Given the description of an element on the screen output the (x, y) to click on. 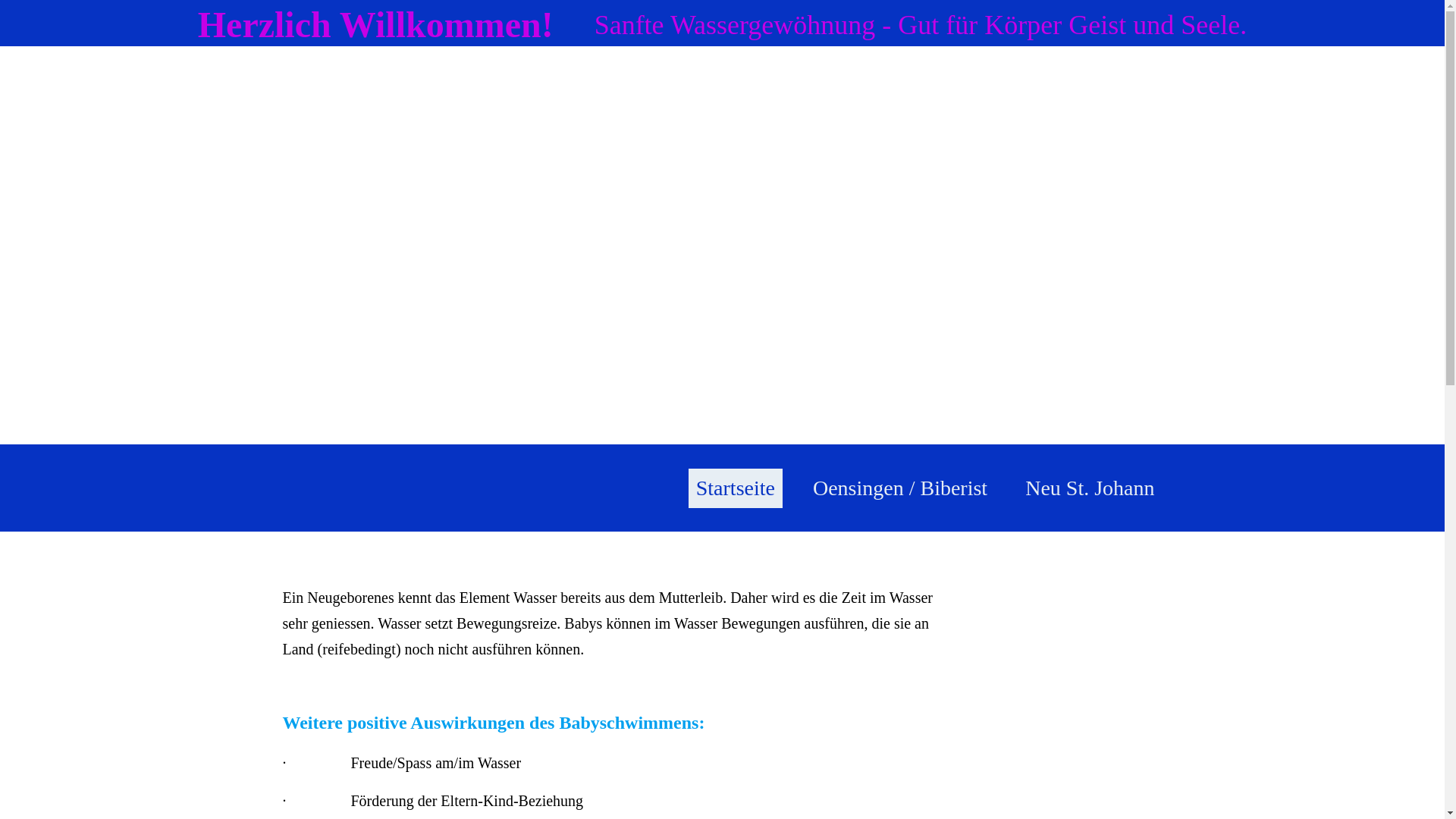
Neu St. Johann Element type: text (1089, 488)
Oensingen / Biberist Element type: text (899, 488)
  Element type: text (354, 486)
Startseite Element type: text (735, 488)
